Given the description of an element on the screen output the (x, y) to click on. 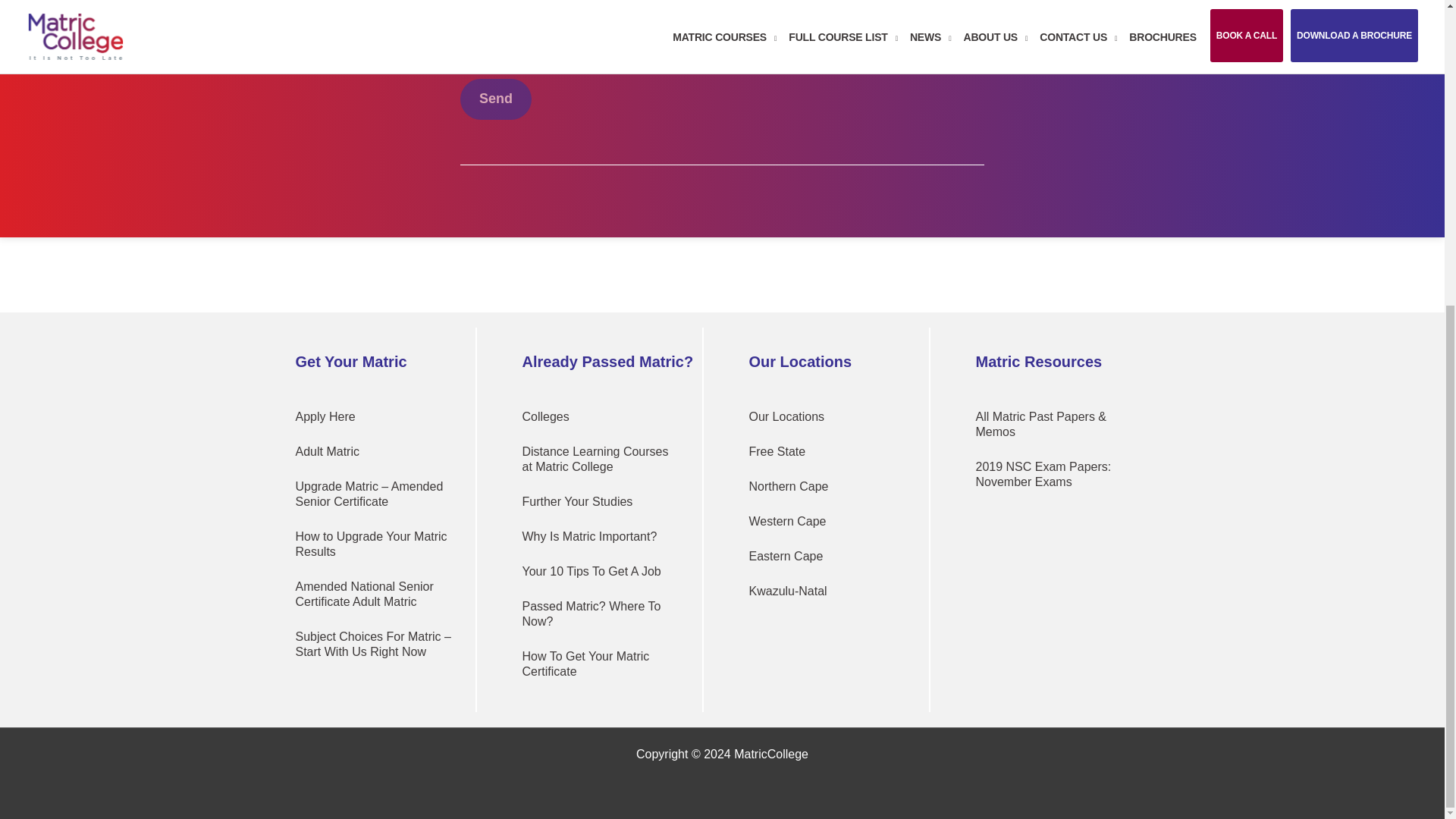
Advertisement (275, 271)
Send (495, 98)
